Given the description of an element on the screen output the (x, y) to click on. 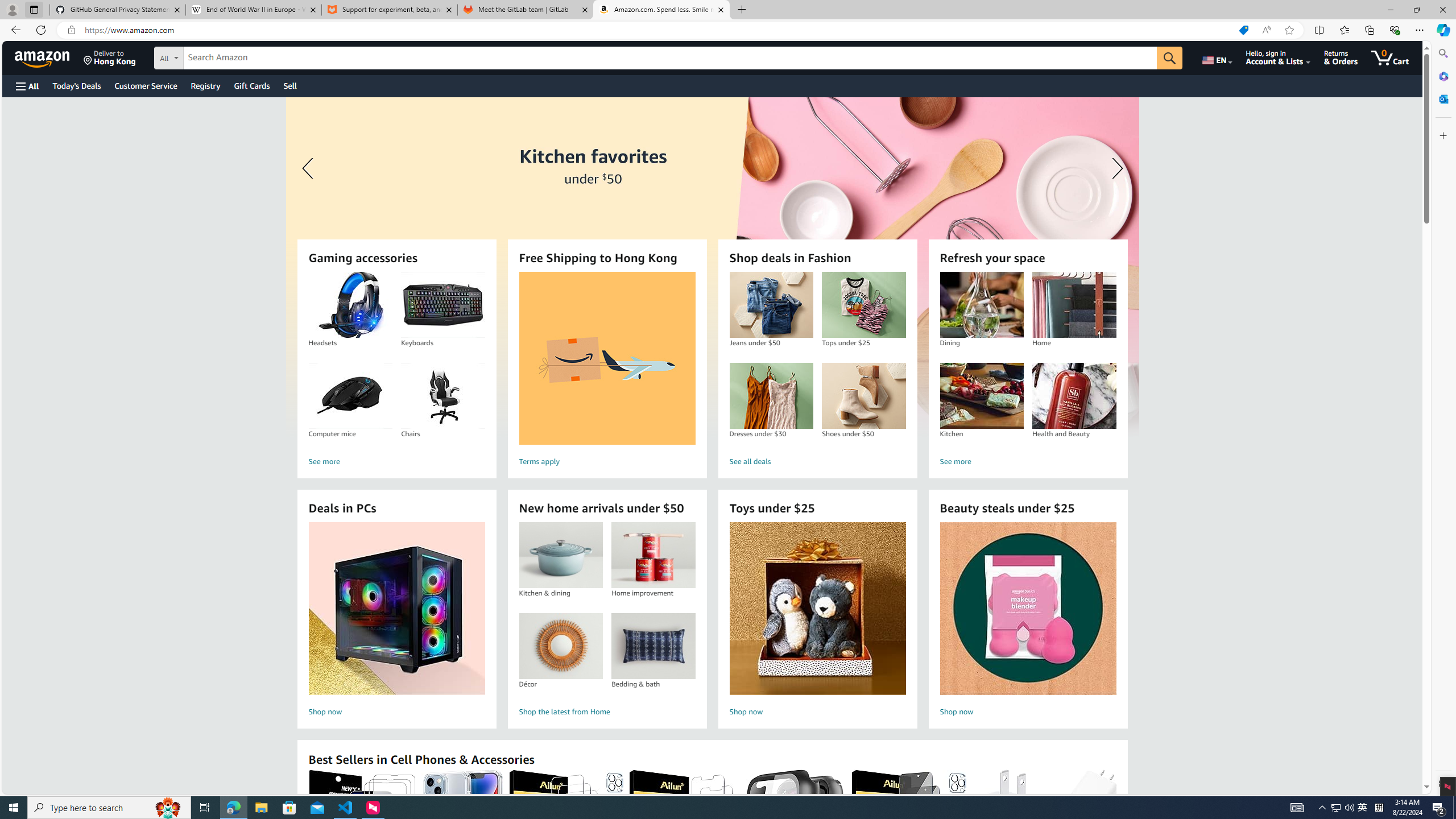
Choose a language for shopping. (1216, 57)
Tops under $25 (863, 304)
Beauty steals under $25 (1027, 608)
Deals in PCs Shop now (396, 620)
Kitchen & dining (560, 555)
Home improvement (652, 555)
Computer mice (350, 395)
Keyboards (443, 304)
Chairs (443, 395)
Health and Beauty (1074, 395)
